Given the description of an element on the screen output the (x, y) to click on. 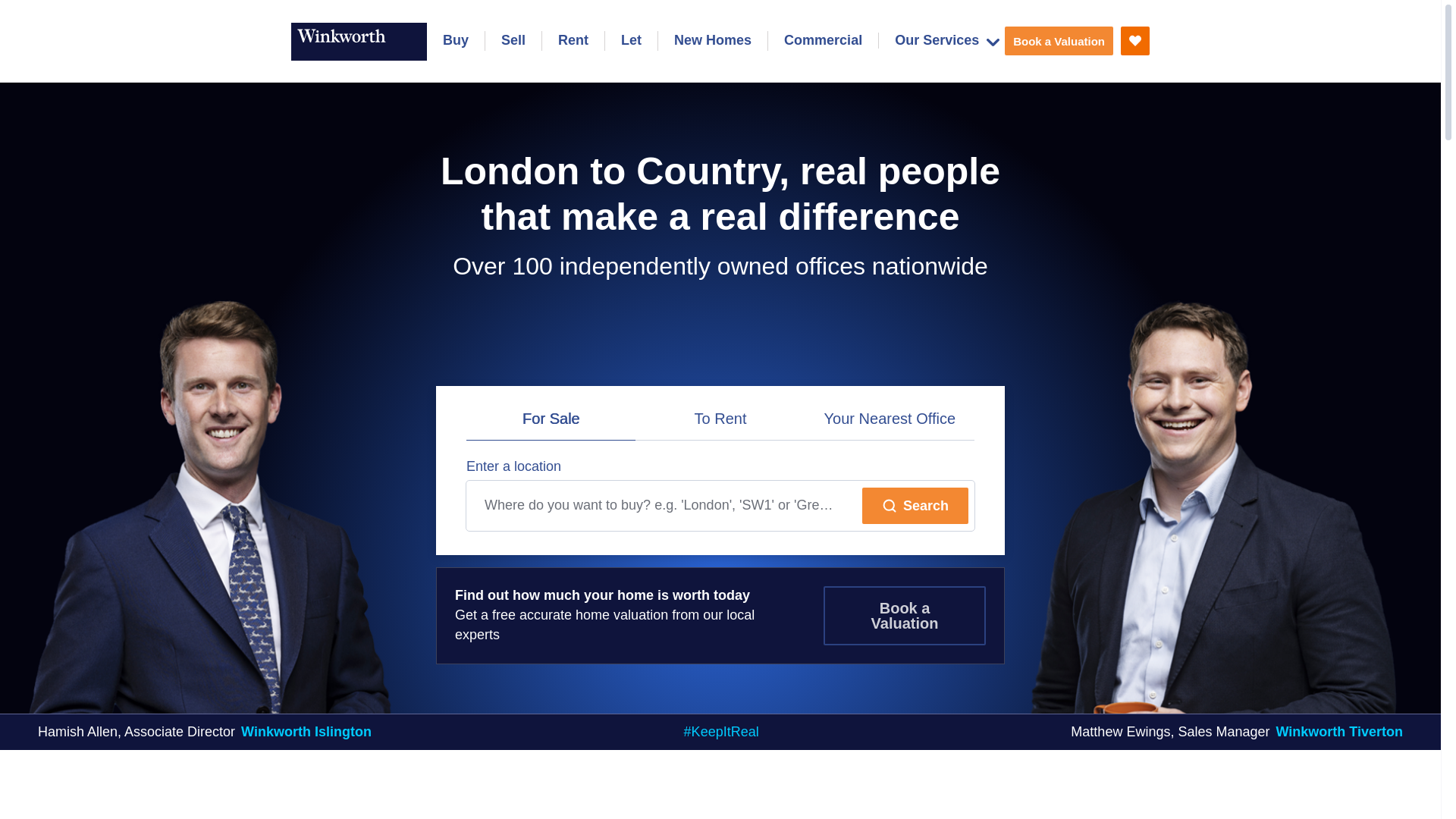
New Homes (712, 40)
Let (631, 40)
Sell (512, 40)
Book a Valuation (1058, 40)
Rent (572, 40)
Buy (455, 40)
Our Services (946, 40)
Commercial (822, 40)
